Given the description of an element on the screen output the (x, y) to click on. 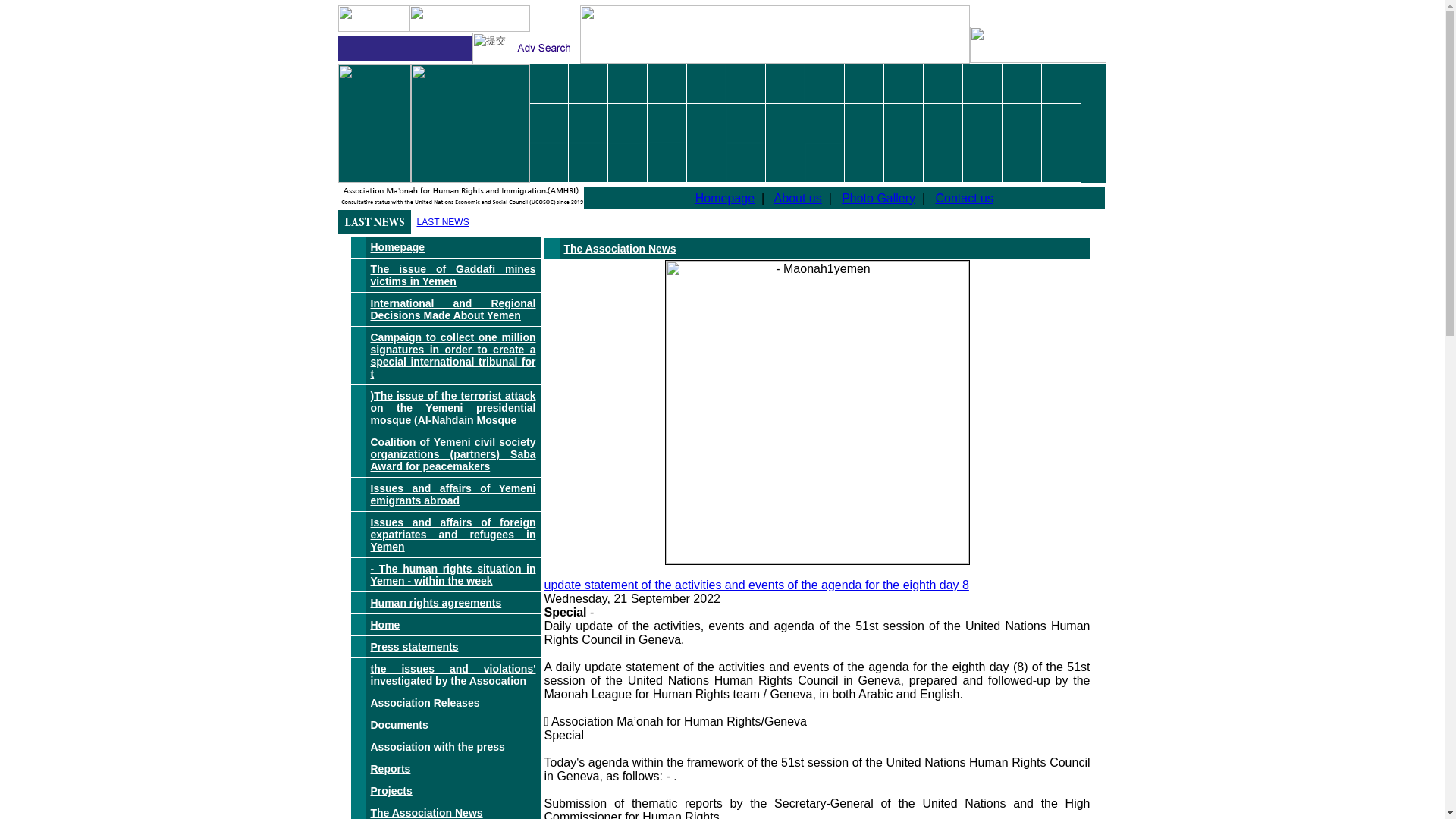
About us (798, 196)
Issues and affairs of Yemeni emigrants abroad (452, 494)
the issues and violations' investigated by the Assocation (452, 674)
Reports (389, 768)
International and Regional Decisions Made About Yemen (452, 309)
Projects (390, 790)
Human rights agreements (434, 603)
Association Releases (424, 702)
Homepage (724, 196)
LAST NEWS (442, 222)
Contact us (963, 196)
Home (383, 624)
